Given the description of an element on the screen output the (x, y) to click on. 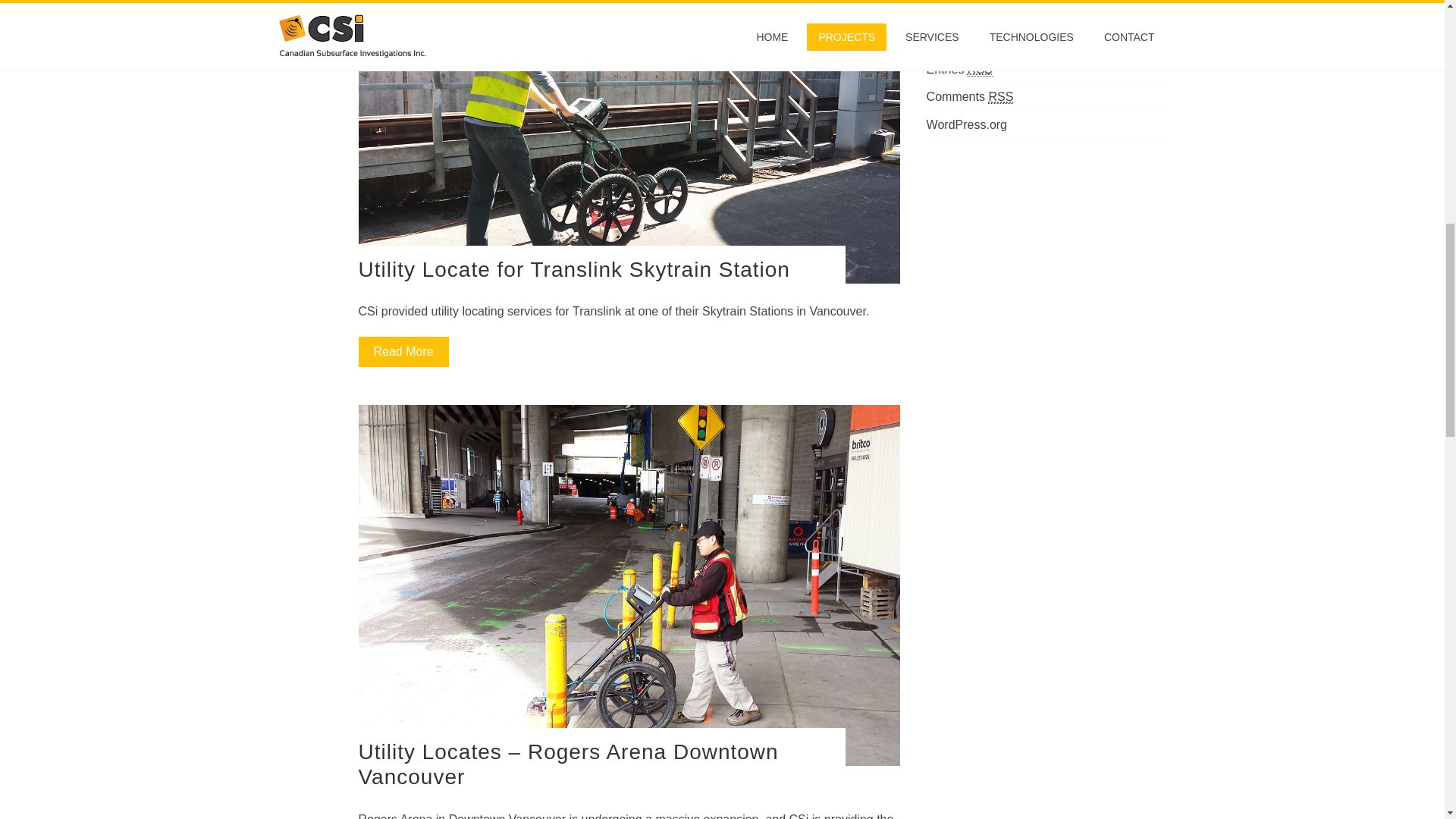
Really Simple Syndication (1000, 97)
Utility Locate for Translink Skytrain Station (573, 269)
Really Simple Syndication (980, 69)
Read More (403, 351)
